Given the description of an element on the screen output the (x, y) to click on. 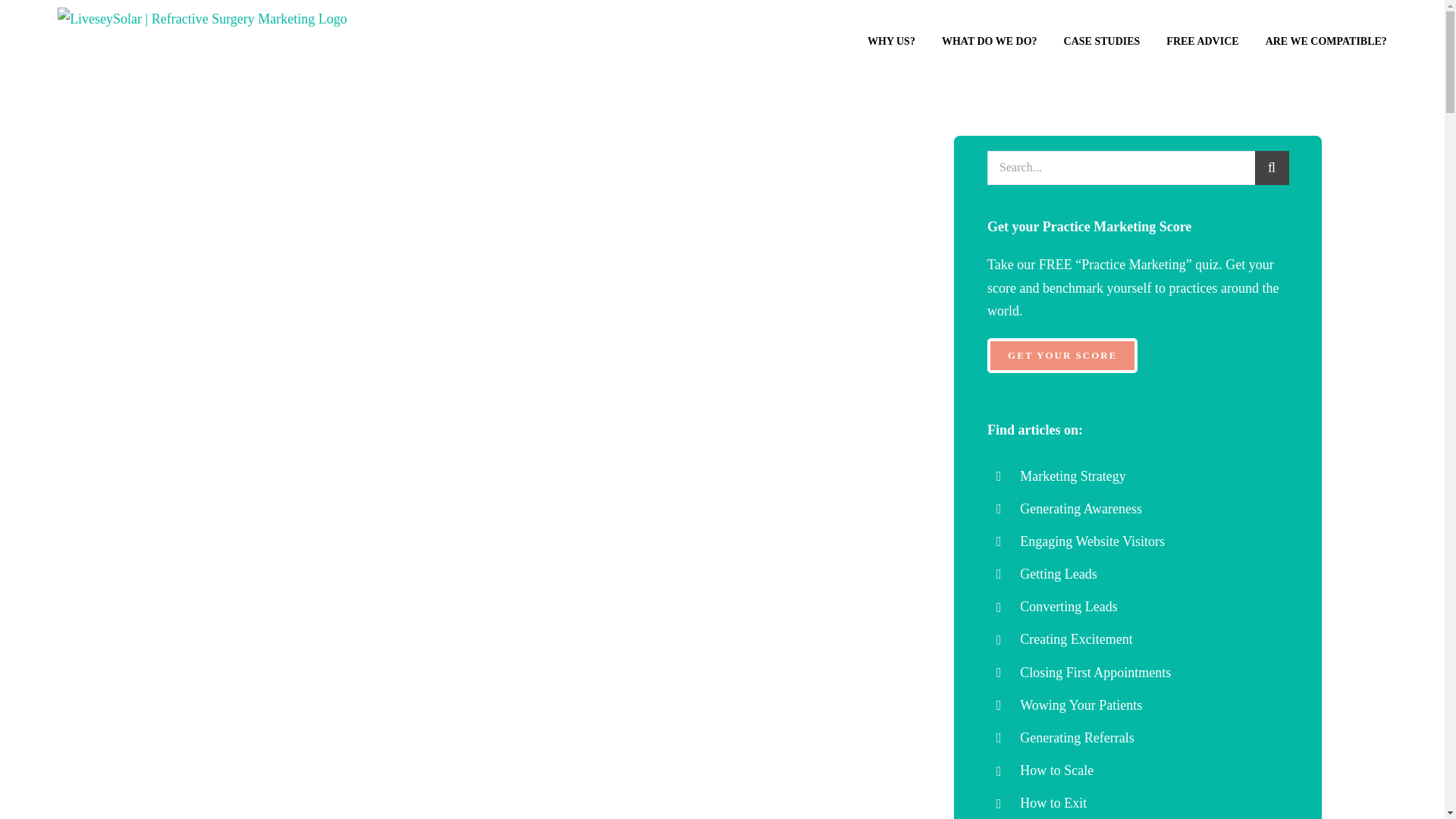
How to Scale (1056, 770)
GET YOUR SCORE (1062, 355)
Closing First Appointments (1095, 672)
Generating Awareness (1080, 508)
ARE WE COMPATIBLE? (1326, 41)
How to Exit (1053, 802)
Creating Excitement (1076, 639)
Engaging Website Visitors (1092, 540)
WHAT DO WE DO? (989, 41)
Wowing Your Patients (1080, 704)
